Given the description of an element on the screen output the (x, y) to click on. 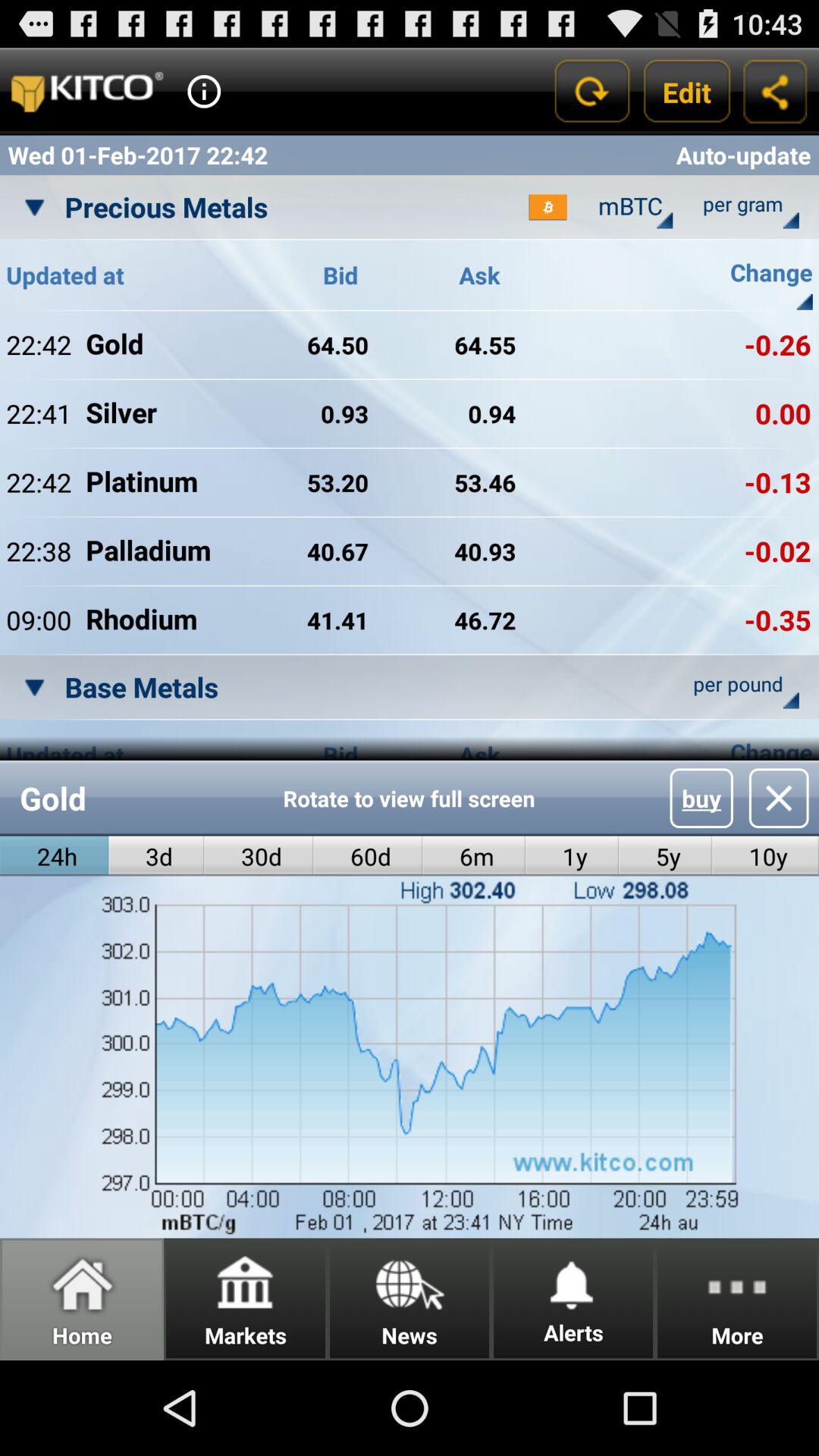
close link (778, 798)
